Given the description of an element on the screen output the (x, y) to click on. 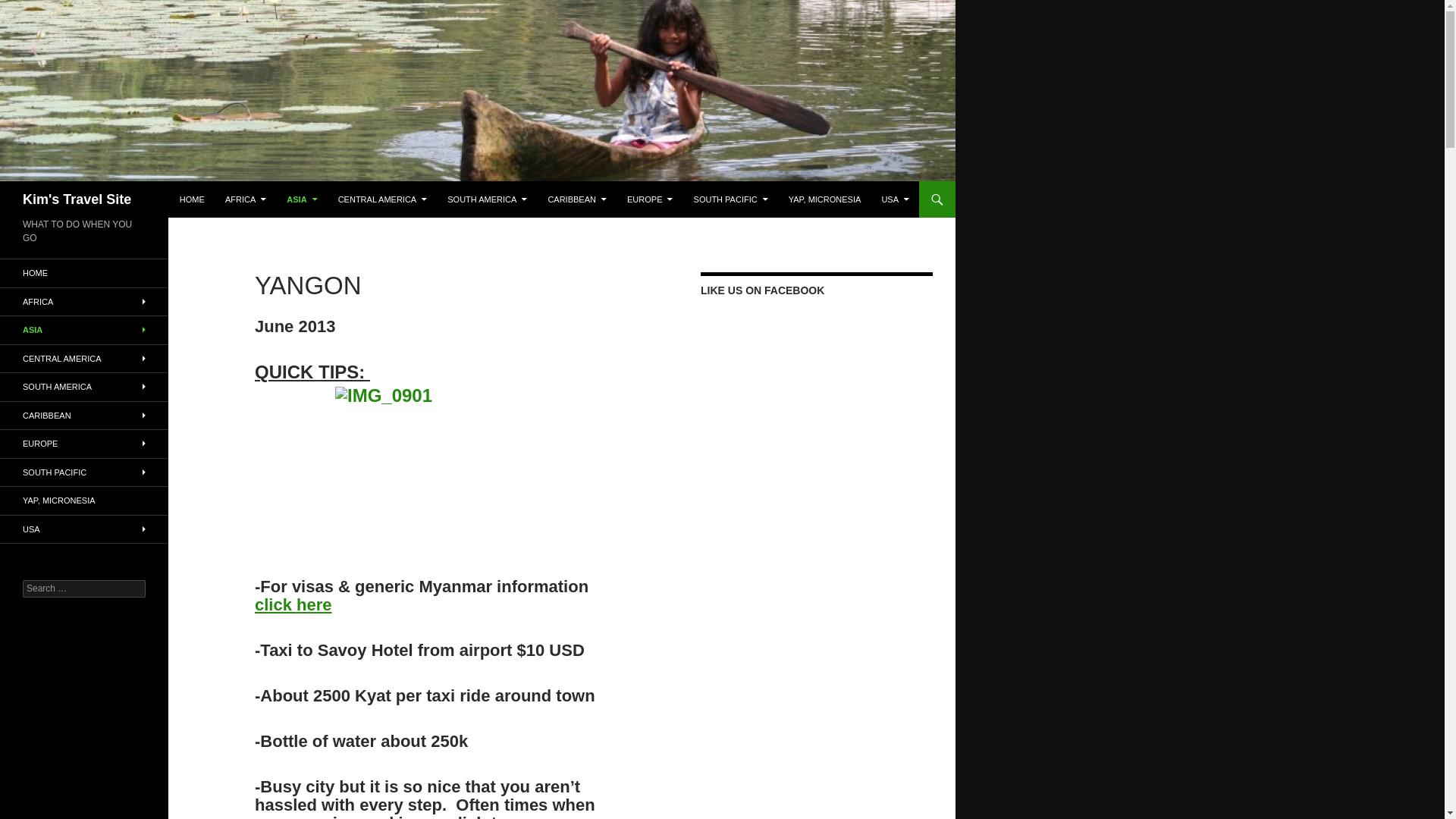
CENTRAL AMERICA (382, 198)
HOME (192, 198)
ASIA (302, 198)
Kim's Travel Site (77, 198)
SOUTH AMERICA (486, 198)
AFRICA (245, 198)
